Given the description of an element on the screen output the (x, y) to click on. 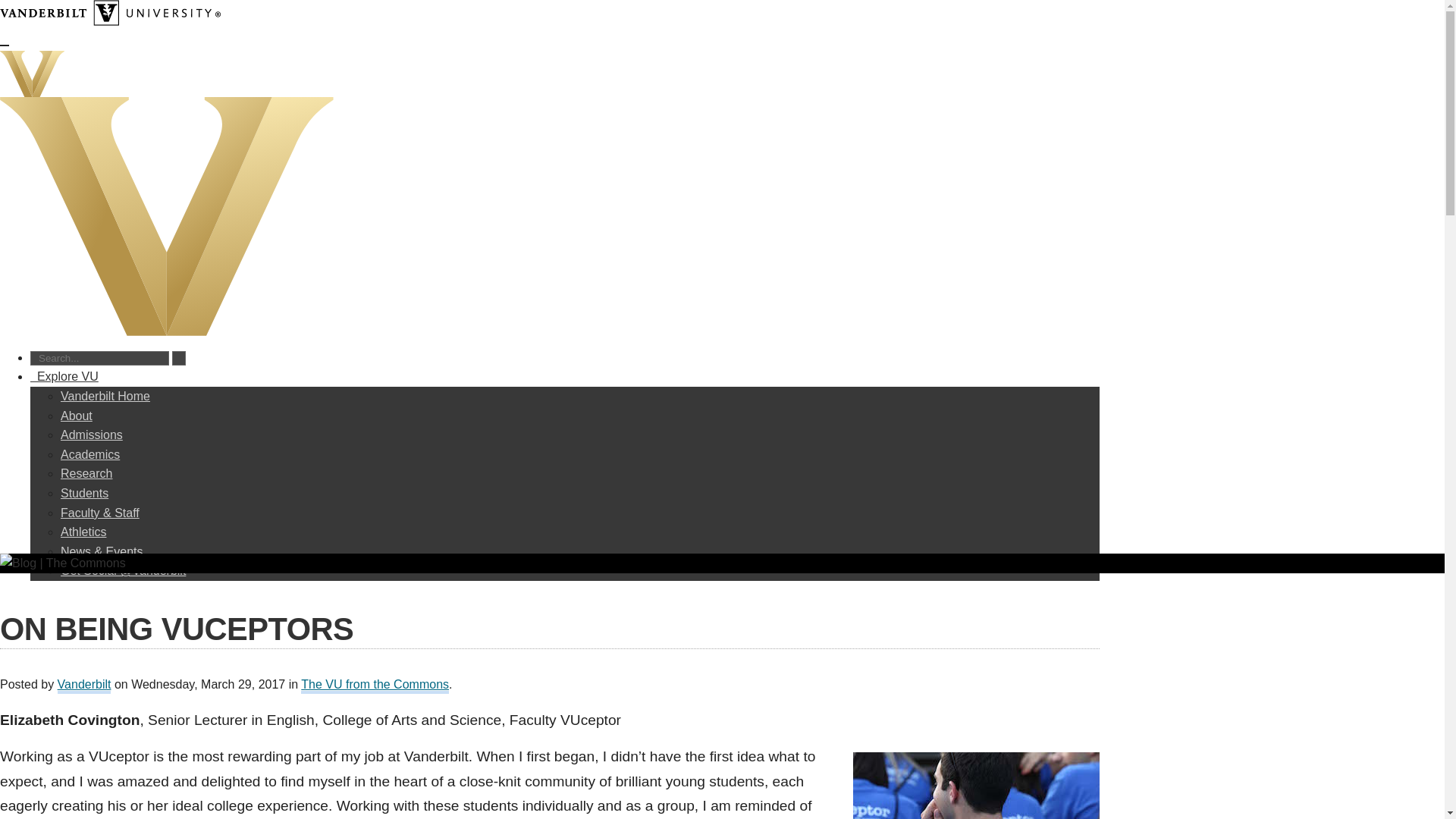
Vanderbilt Home (105, 395)
Posts by Vanderbilt (85, 685)
Admissions (91, 434)
The VU from the Commons (374, 685)
Academics (90, 454)
  Explore VU (64, 376)
Students (84, 492)
About (77, 415)
Vanderbilt (85, 685)
Athletics (83, 531)
Research (86, 472)
